Given the description of an element on the screen output the (x, y) to click on. 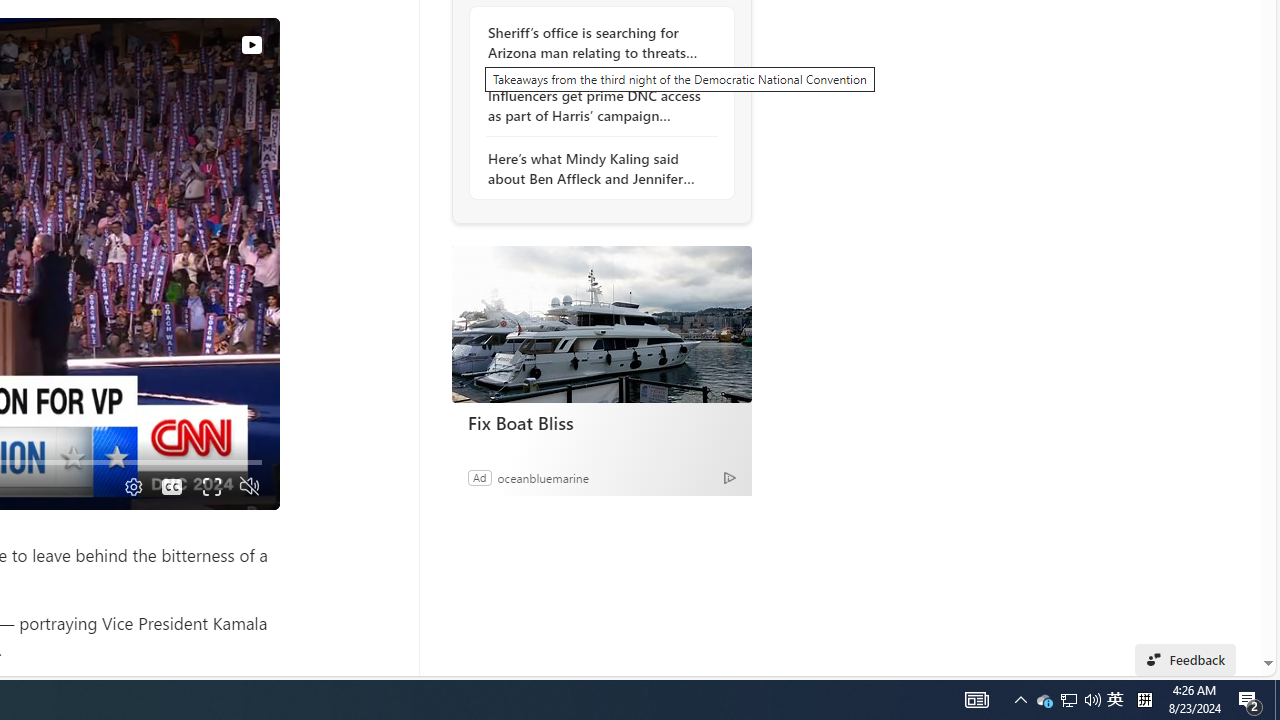
oceanbluemarine (542, 477)
Ad Choice (729, 477)
Feedback (1185, 659)
View on Watch View on Watch (205, 44)
Ad (479, 477)
Captions (171, 486)
Unmute (249, 486)
Fix Boat Bliss (601, 324)
Fullscreen (210, 486)
View on Watch (251, 45)
Fix Boat Bliss (601, 422)
